Given the description of an element on the screen output the (x, y) to click on. 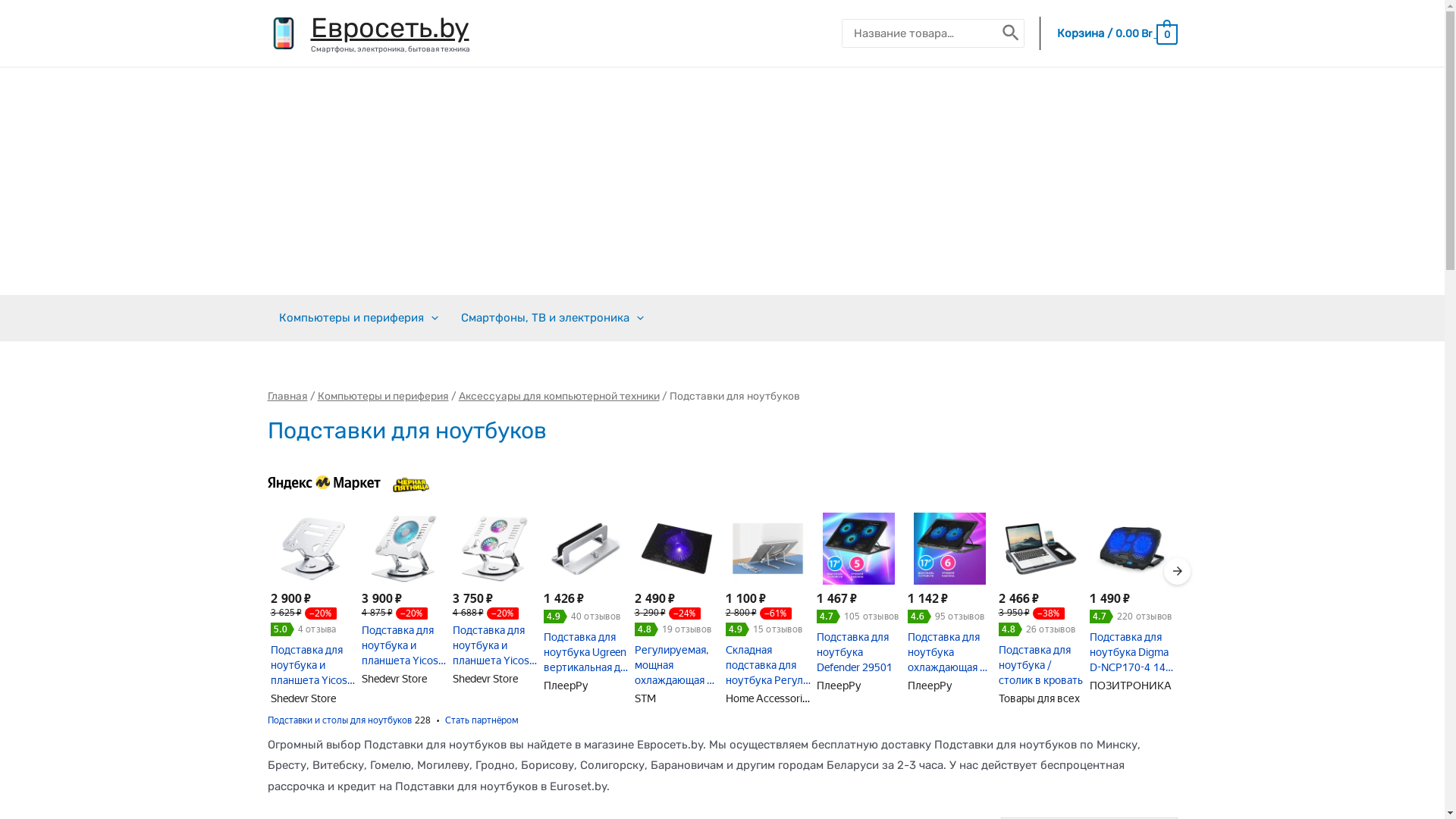
4.9 Element type: text (736, 629)
Shedevr Store Element type: text (393, 678)
STM Element type: text (644, 698)
5.0 Element type: text (281, 629)
4.7 Element type: text (827, 616)
Advertisement Element type: hover (721, 181)
Home Accessories Element type: text (768, 698)
4.6 Element type: text (918, 616)
Shedevr Store Element type: text (302, 698)
4.9 Element type: text (554, 616)
4.8 Element type: text (1009, 629)
4.7 Element type: text (1100, 616)
4.8 Element type: text (645, 629)
Shedevr Store Element type: text (484, 678)
